Given the description of an element on the screen output the (x, y) to click on. 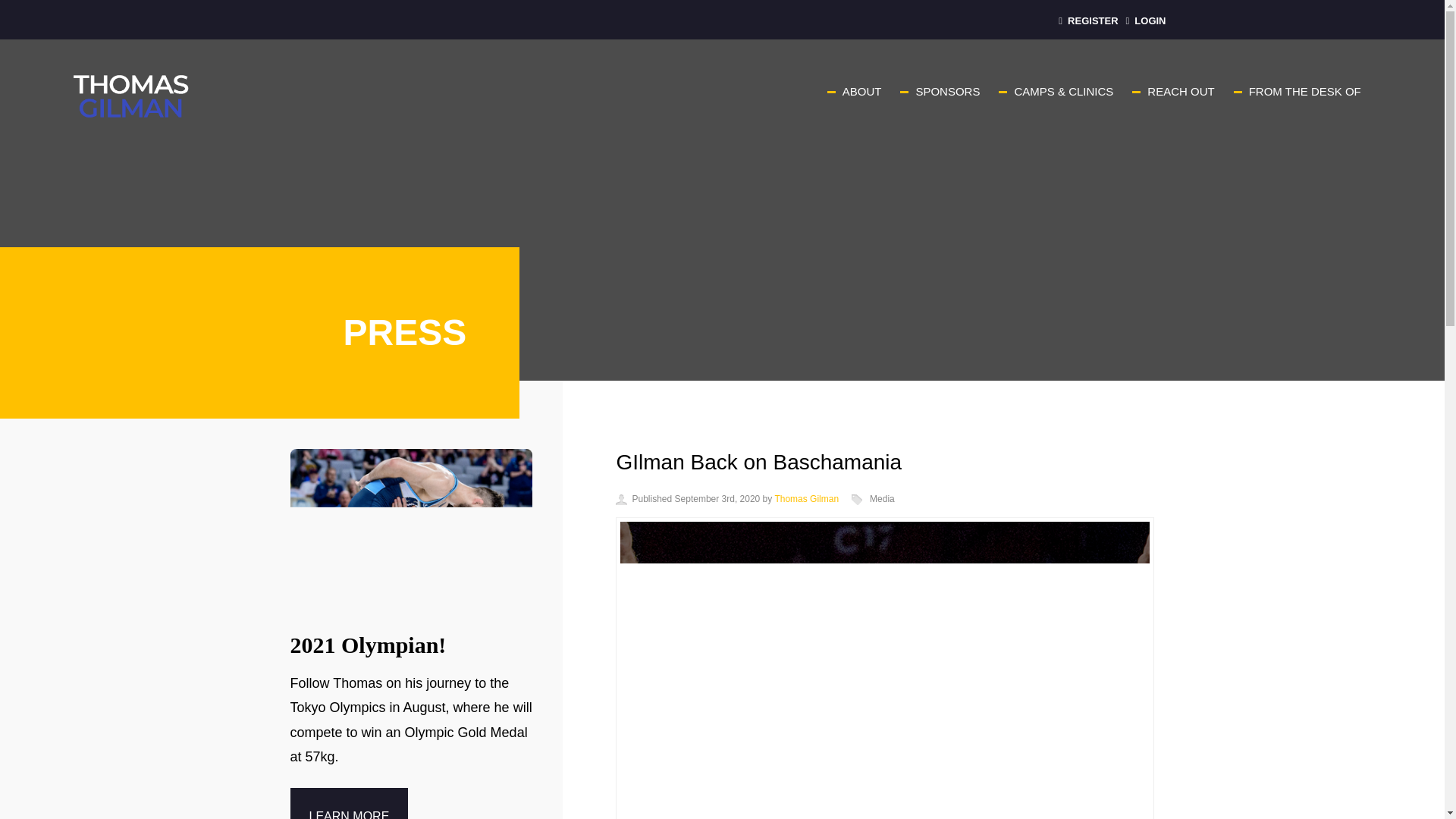
Thomas Gilman (806, 498)
FROM THE DESK OF (1305, 90)
ABOUT (862, 90)
REACH OUT (1180, 90)
LOGIN (1145, 20)
REGISTER (1088, 20)
SPONSORS (947, 90)
LEARN MORE (348, 803)
Unsubscribe (42, 17)
